Given the description of an element on the screen output the (x, y) to click on. 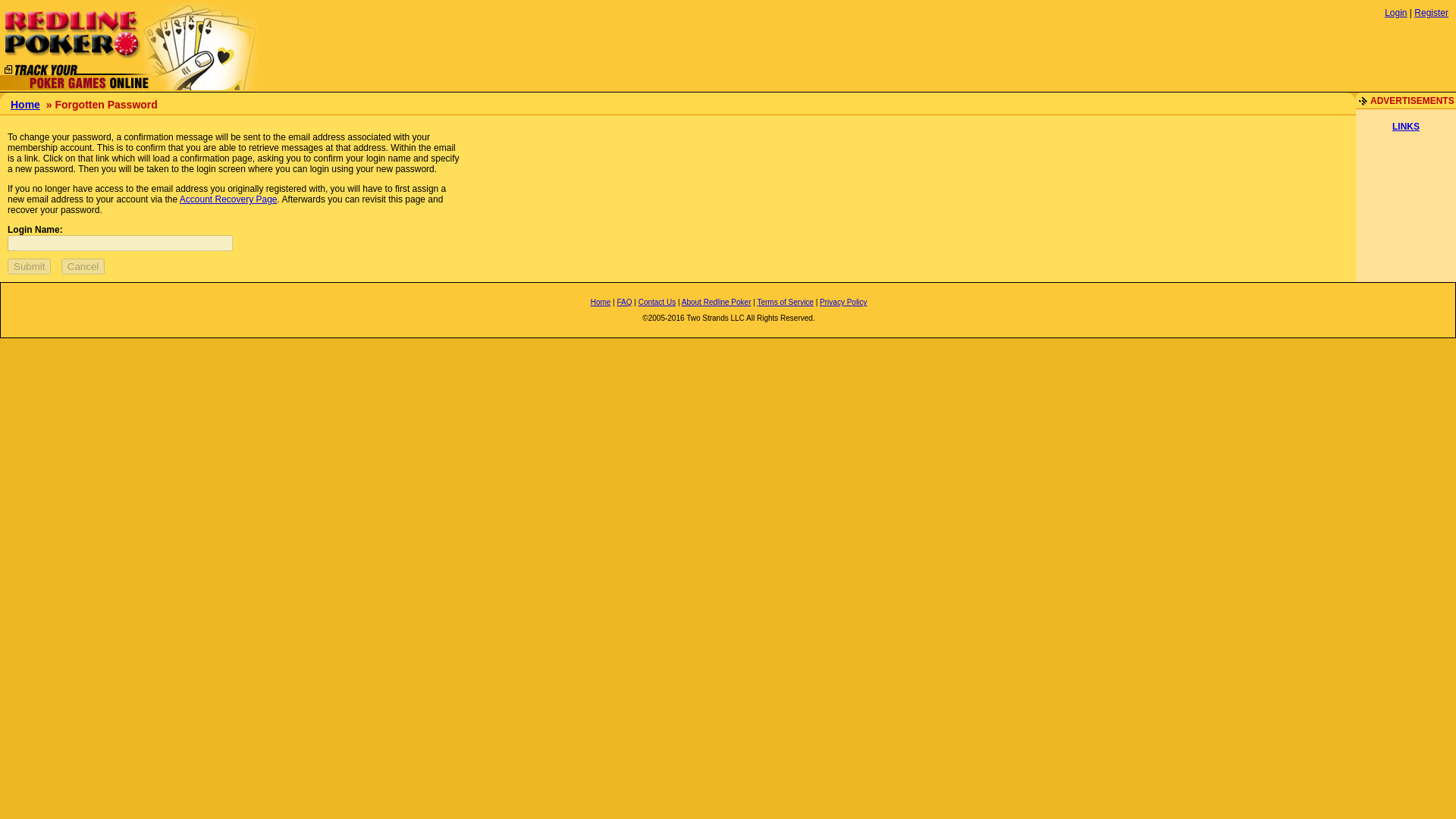
Submit (28, 266)
Register (1430, 12)
Cancel (82, 266)
Submit (28, 266)
Home (25, 104)
Home (601, 302)
Contact Us (657, 302)
FAQ (624, 302)
Cancel (82, 266)
Terms of Service (784, 302)
